Given the description of an element on the screen output the (x, y) to click on. 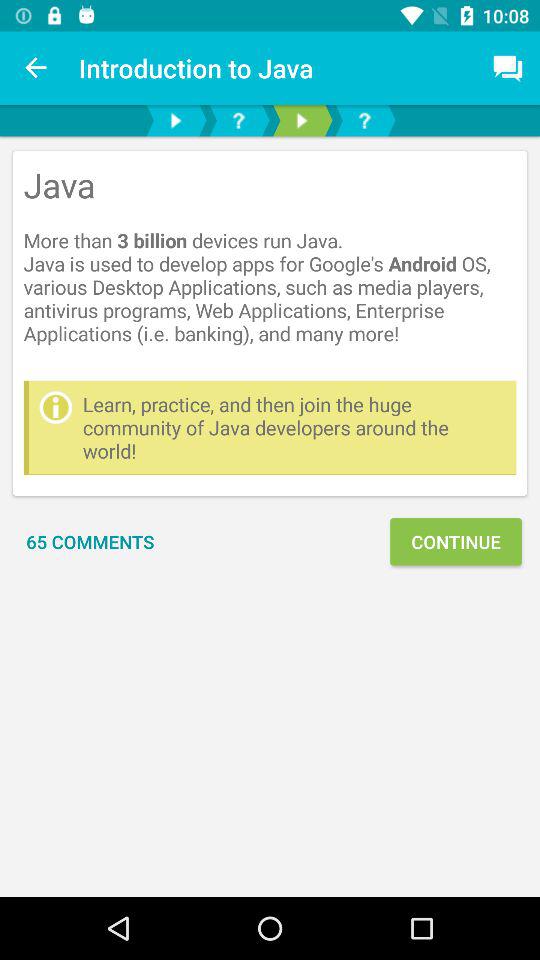
open tab (364, 120)
